Given the description of an element on the screen output the (x, y) to click on. 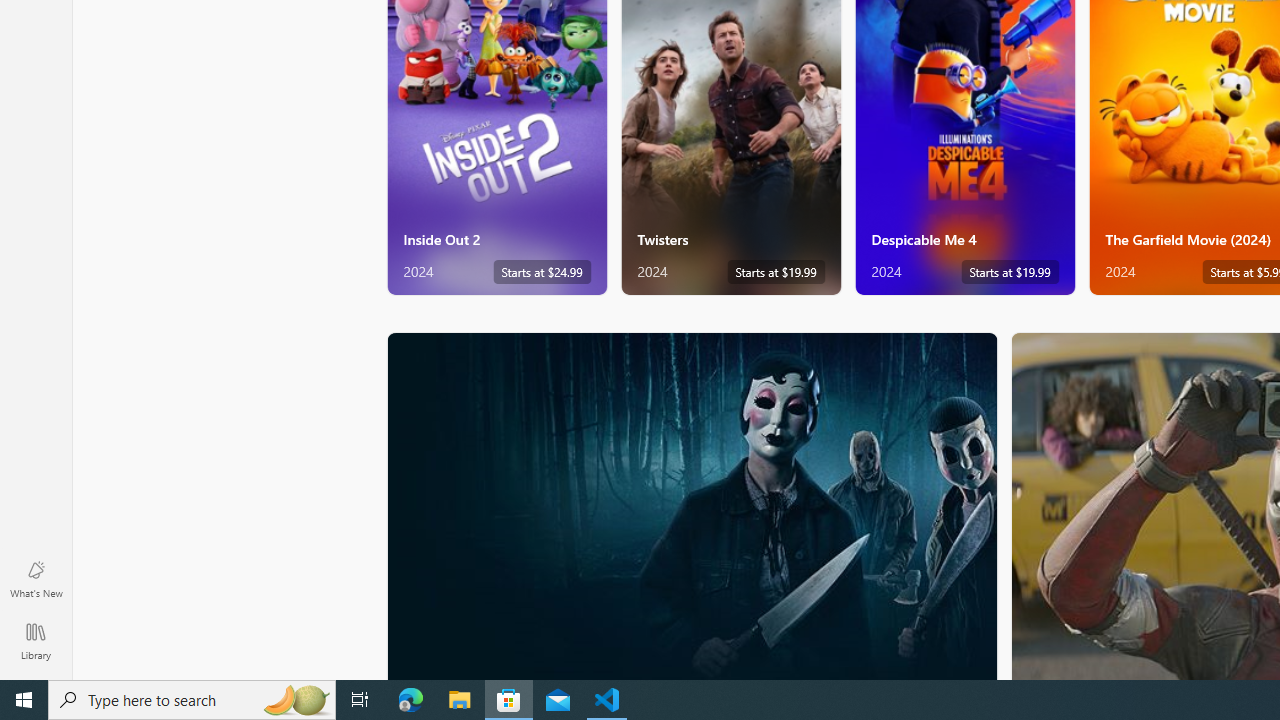
AutomationID: PosterImage (690, 505)
Horror (692, 505)
